Given the description of an element on the screen output the (x, y) to click on. 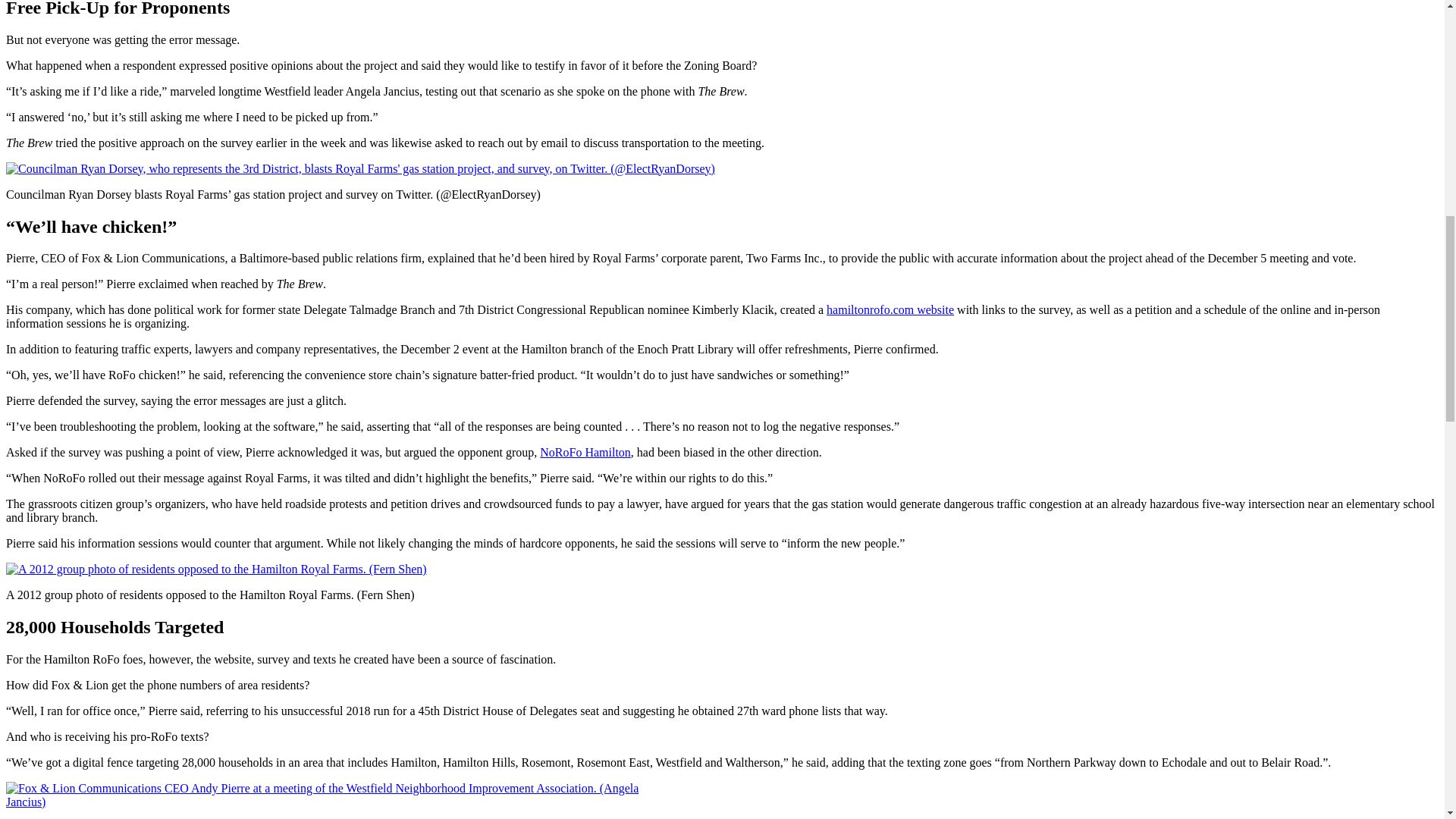
hamiltonrofo.com website (890, 309)
NoRoFo Hamilton (585, 451)
